Given the description of an element on the screen output the (x, y) to click on. 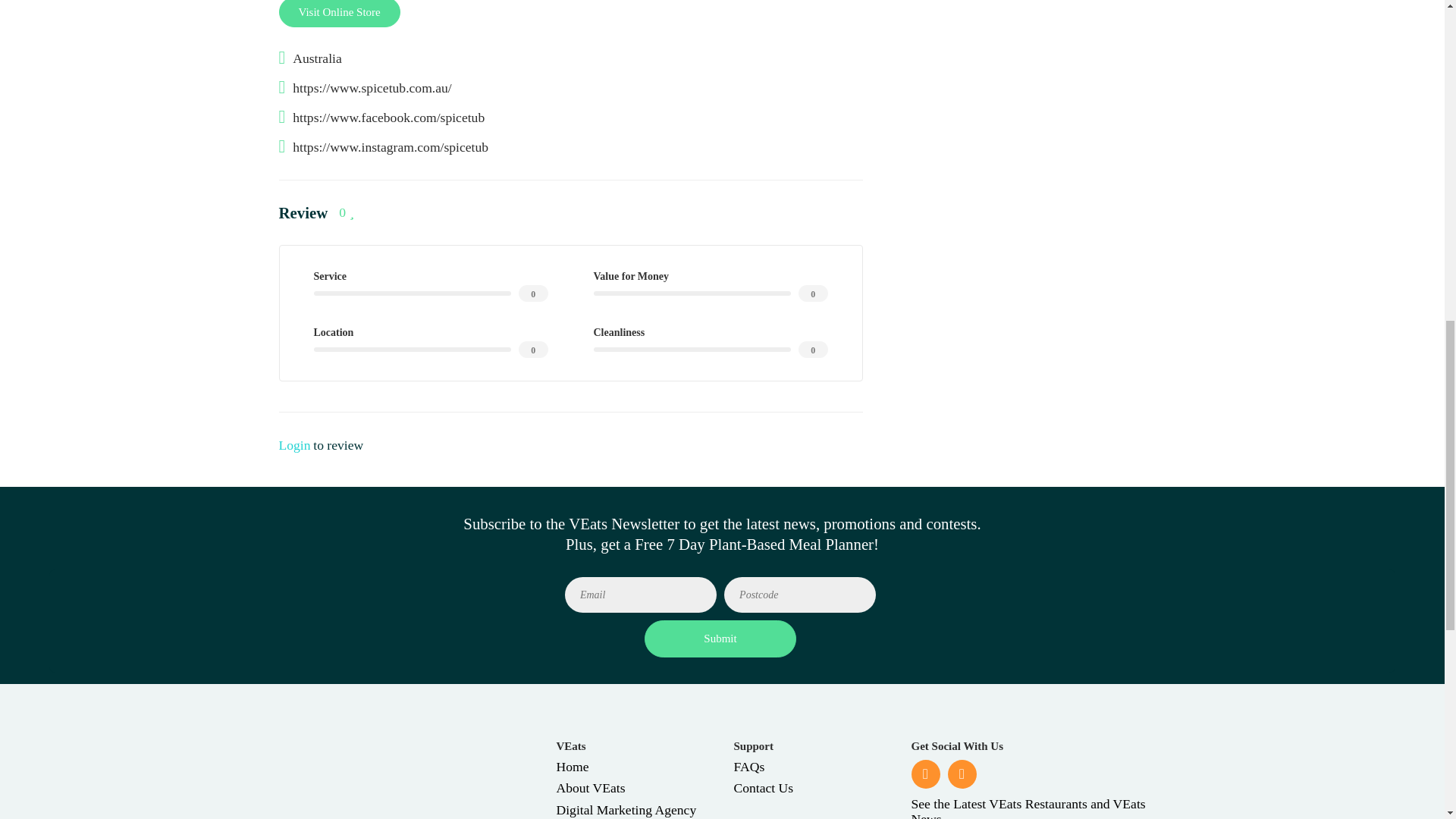
Submit (720, 638)
